Given the description of an element on the screen output the (x, y) to click on. 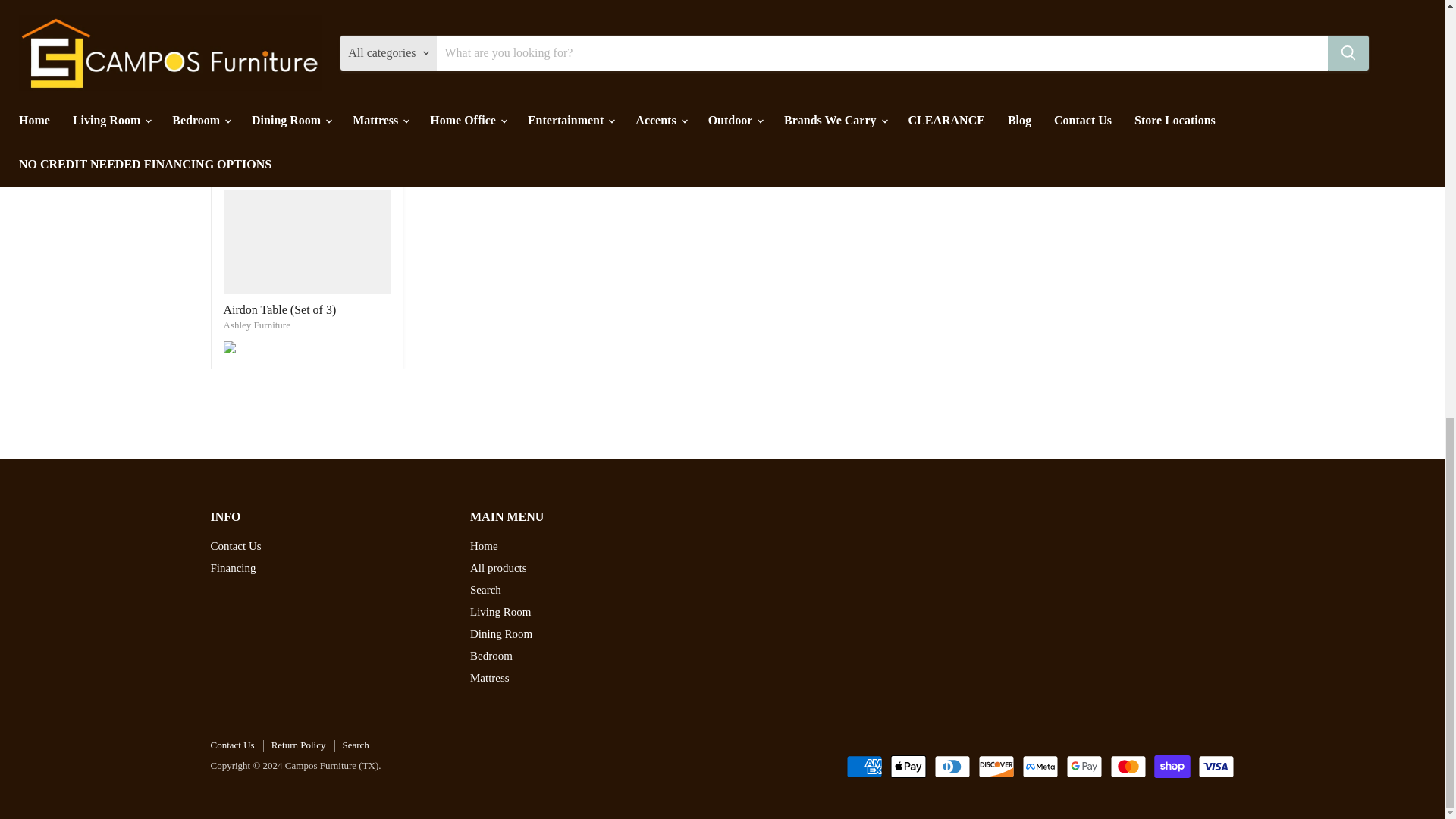
Diners Club (952, 766)
Apple Pay (907, 766)
American Express (863, 766)
Ashley Furniture (255, 324)
